Given the description of an element on the screen output the (x, y) to click on. 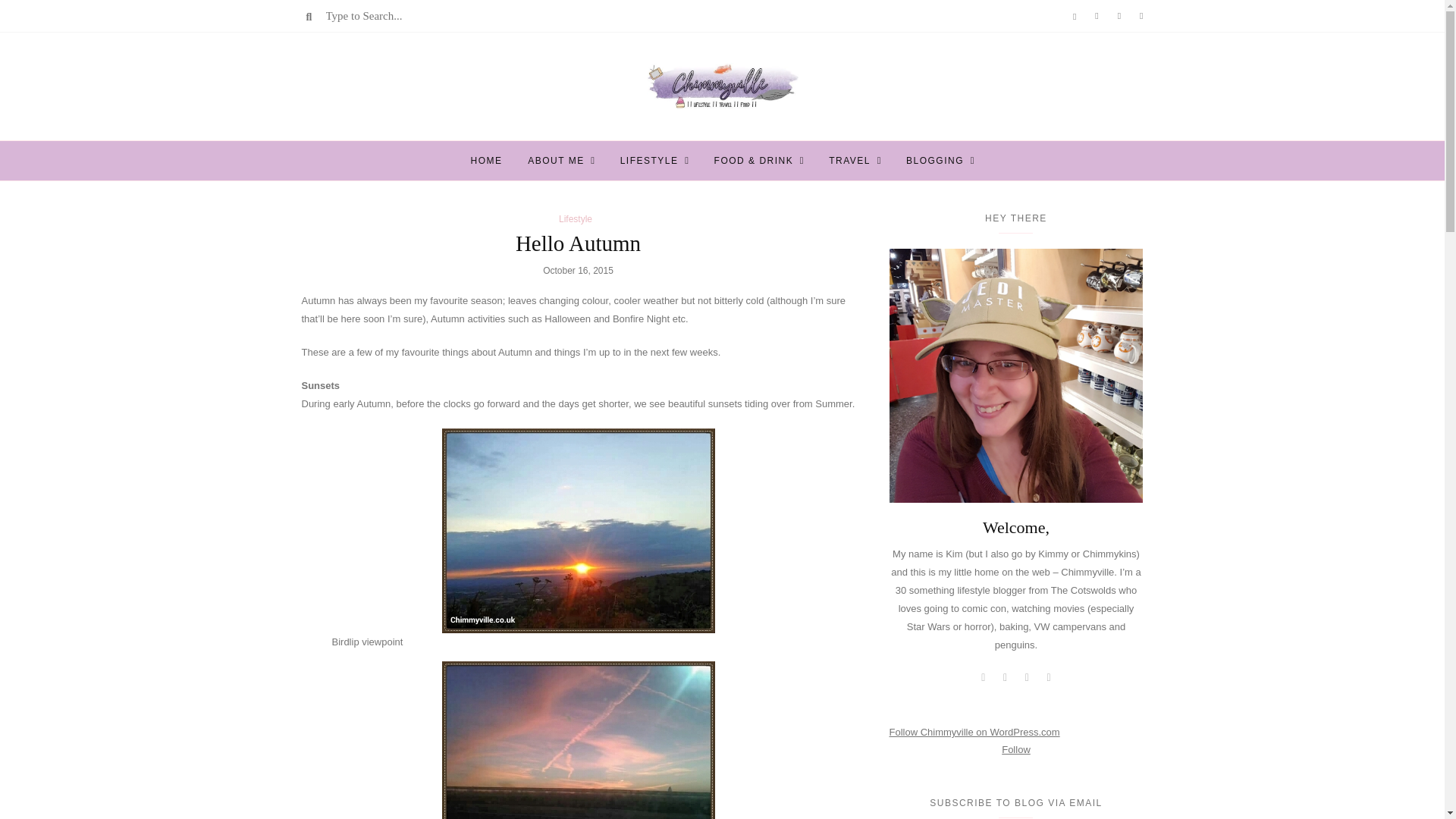
Cirencester to Cheltenham road (577, 739)
ABOUT ME (555, 160)
BLOGGING (934, 160)
Birdlip viewpoint (577, 530)
Lifestyle (575, 218)
LIFESTYLE (649, 160)
TRAVEL (849, 160)
